Given the description of an element on the screen output the (x, y) to click on. 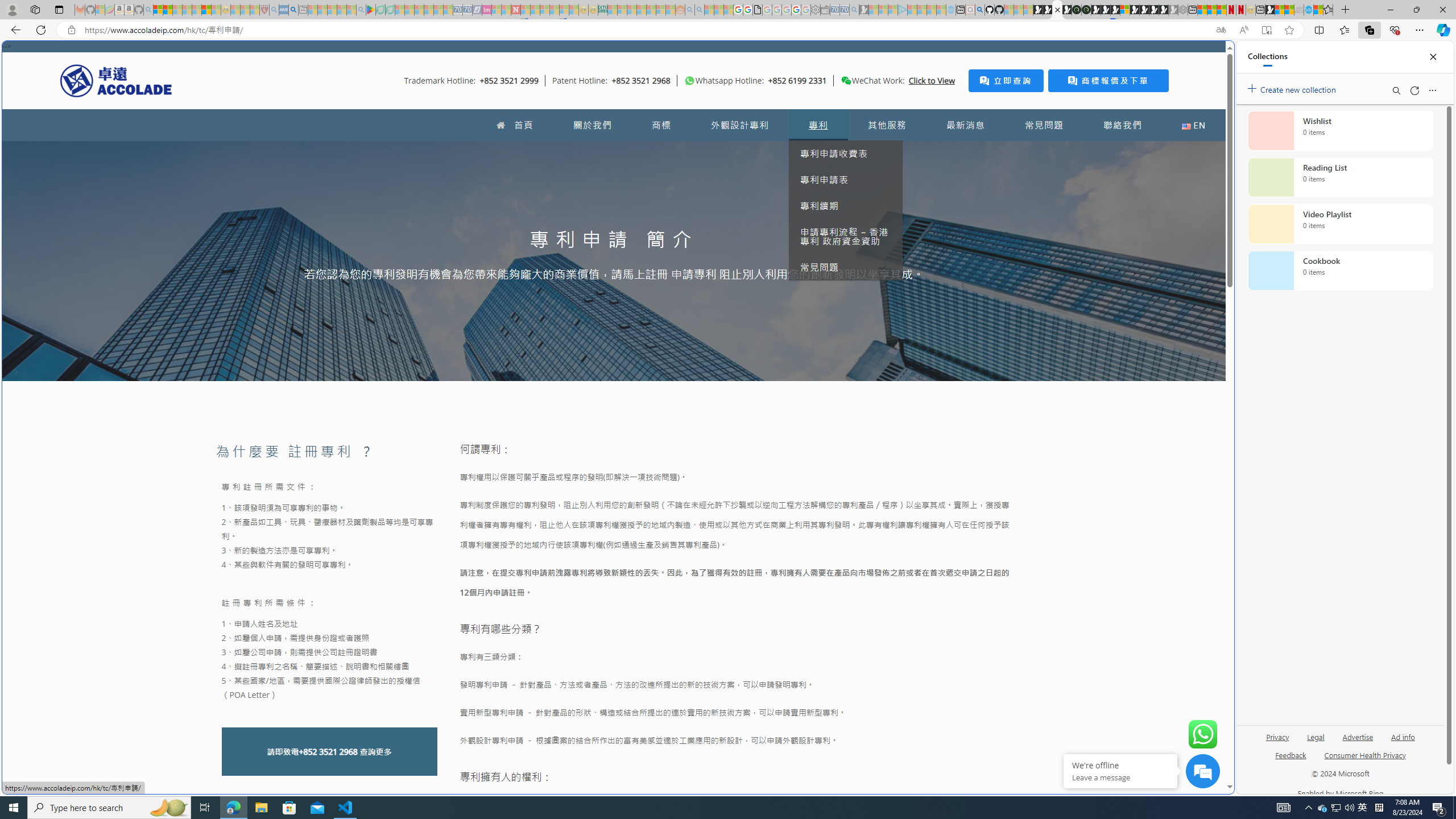
+852 3521 2968 (328, 751)
Video Playlist collection, 0 items (1339, 223)
